Given the description of an element on the screen output the (x, y) to click on. 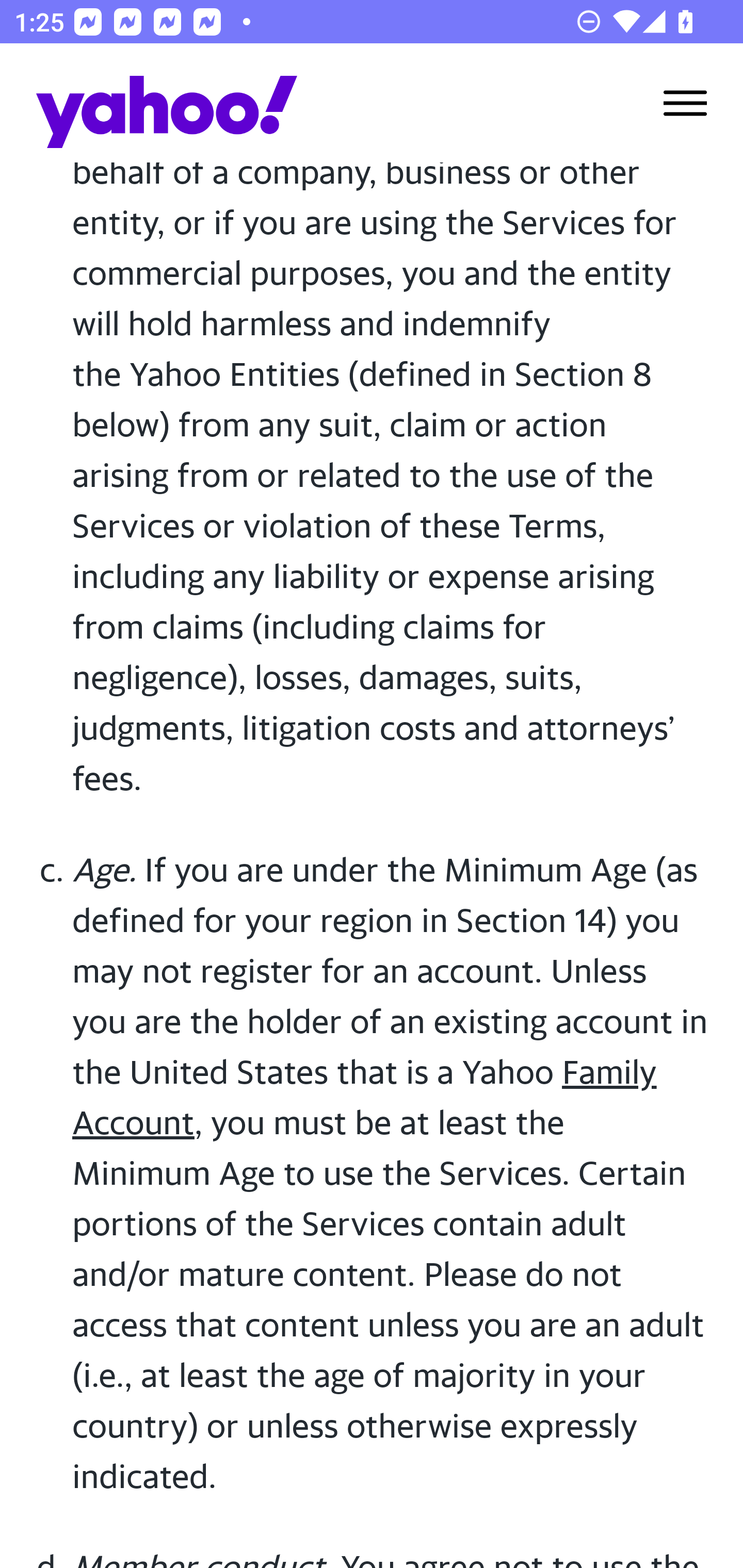
Family Account (364, 1098)
